Given the description of an element on the screen output the (x, y) to click on. 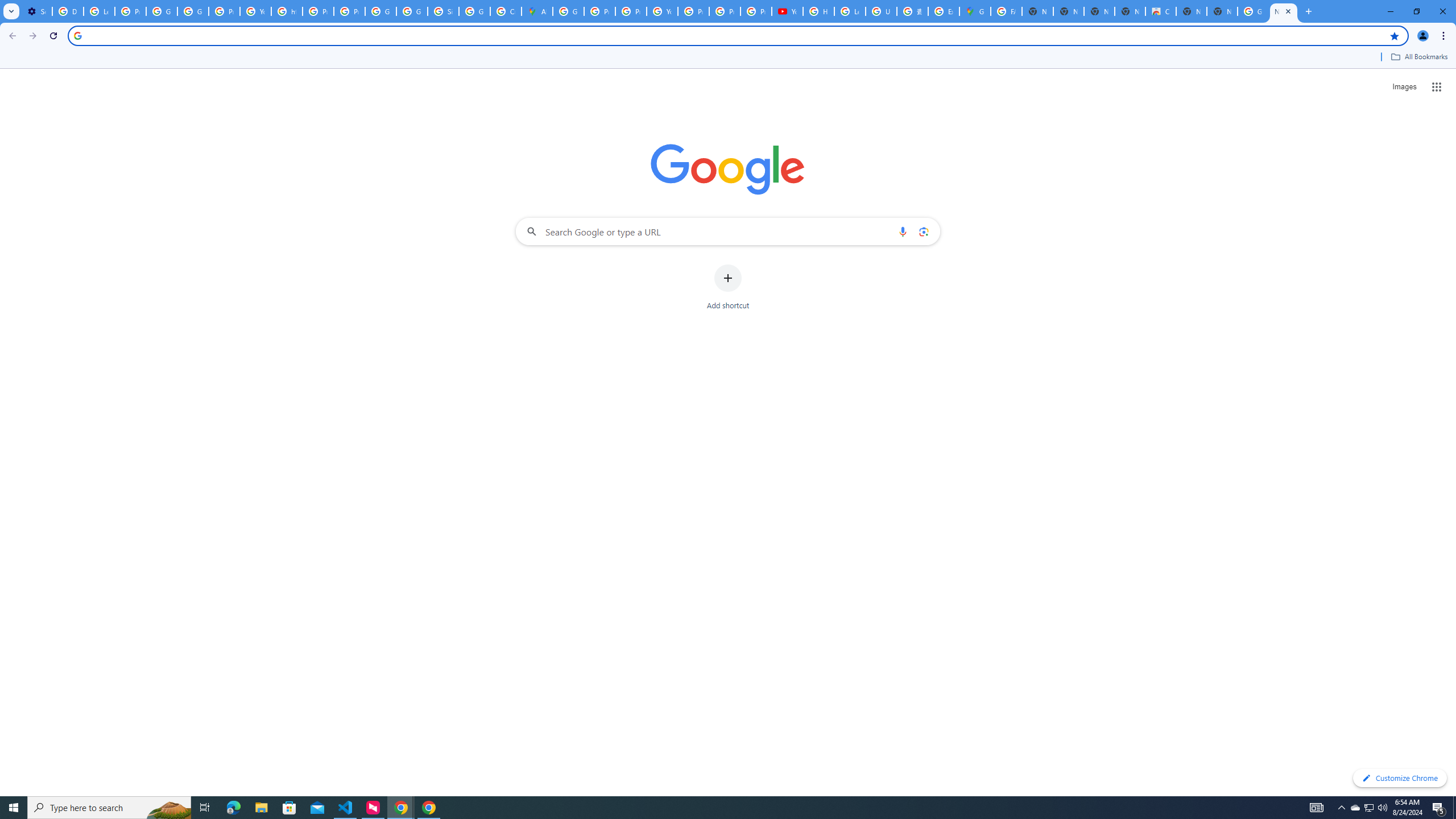
Privacy Help Center - Policies Help (318, 11)
How Chrome protects your passwords - Google Chrome Help (818, 11)
Google Account Help (161, 11)
